Given the description of an element on the screen output the (x, y) to click on. 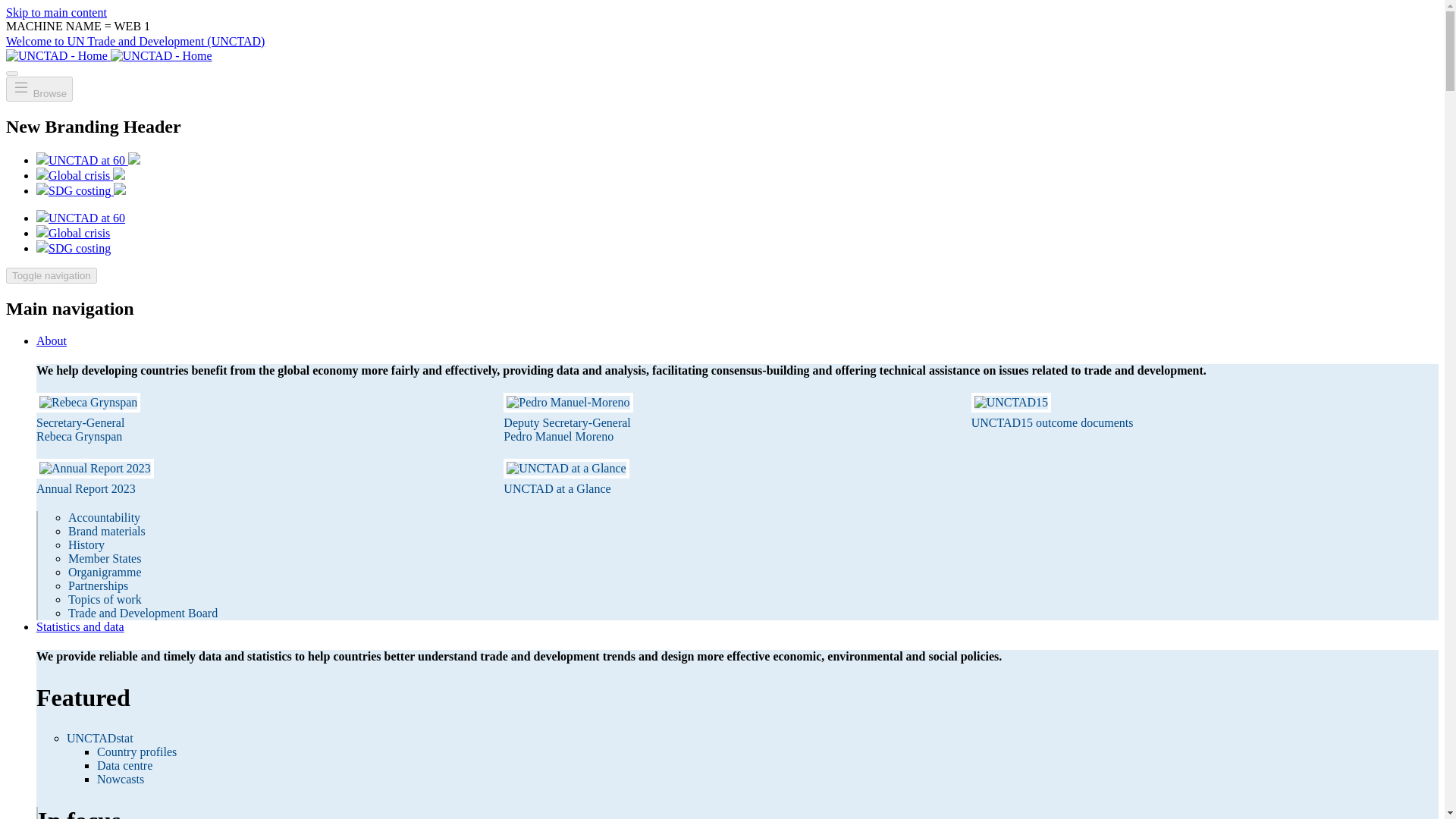
Brand materials (106, 530)
Secretary-General (79, 422)
Rebeca Grynspan (79, 436)
About (51, 340)
Skip to main content (55, 11)
Member States (104, 558)
Annual Report 2023 (85, 488)
Country profiles (136, 751)
Data centre (124, 765)
Accountability (103, 517)
Global crisis (80, 174)
Home (108, 55)
Nowcasts (120, 779)
UNCTAD at 60 (87, 160)
Statistics and data (79, 626)
